Given the description of an element on the screen output the (x, y) to click on. 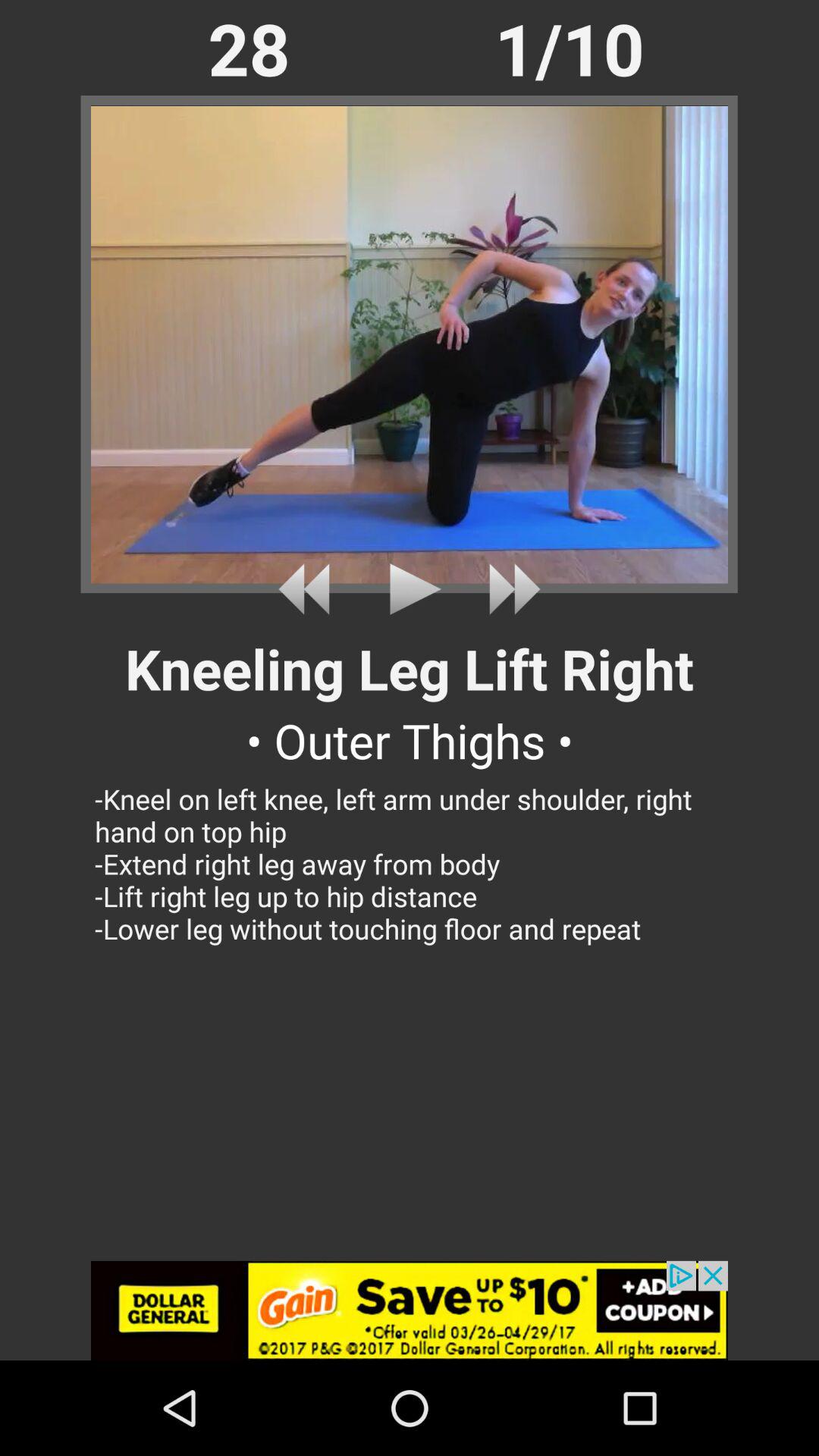
next option (508, 589)
